Given the description of an element on the screen output the (x, y) to click on. 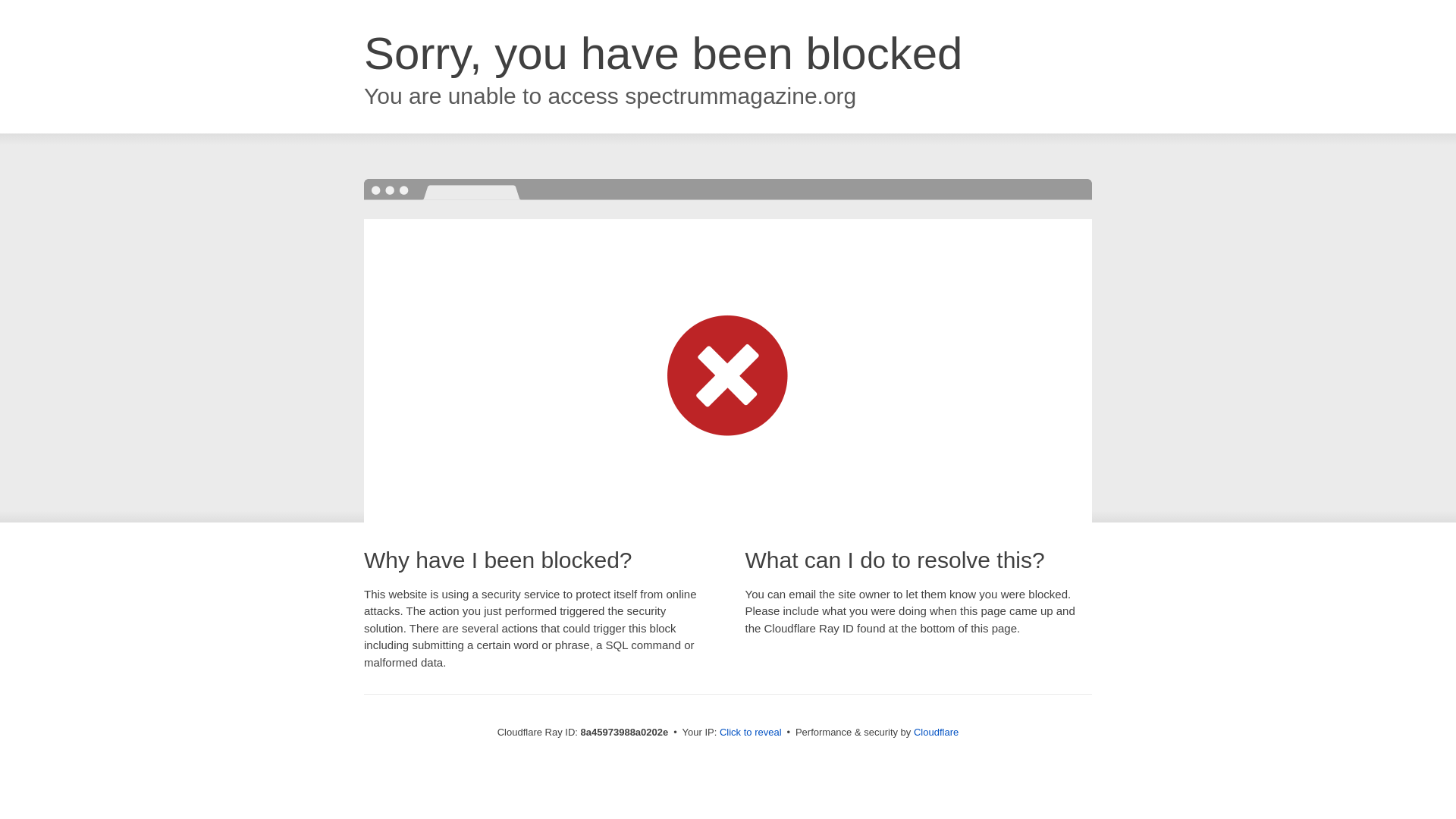
Click to reveal (750, 732)
Cloudflare (936, 731)
